Given the description of an element on the screen output the (x, y) to click on. 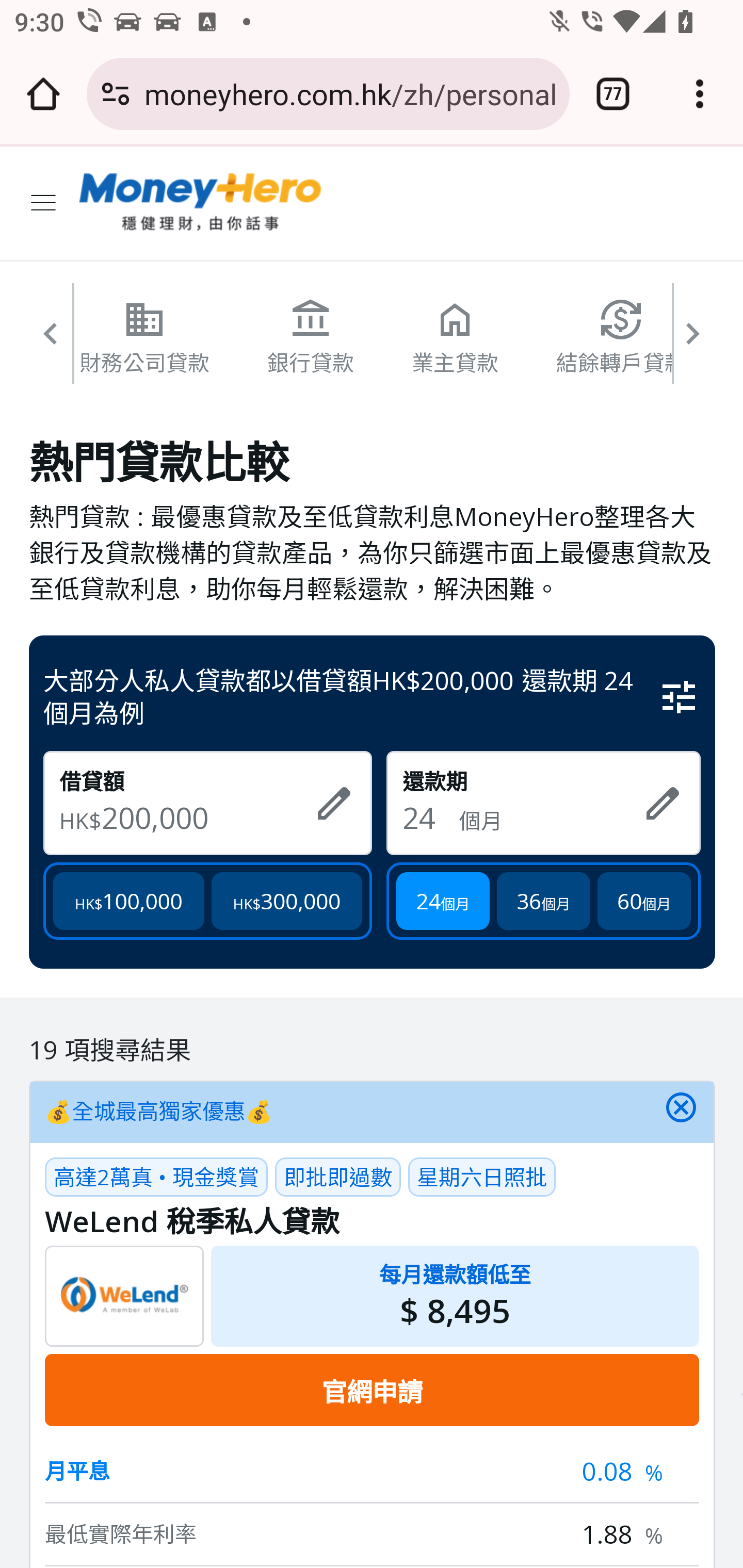
Open the home page (43, 93)
Connection is secure (115, 93)
Switch or close tabs (612, 93)
Customize and control Google Chrome (699, 93)
MH_Logo_ZH_2021-1 (201, 203)
Previous slide (50, 341)
business 財務公司貸款 (145, 336)
account_balance 銀行貸款 (311, 336)
home 業主貸款 (454, 336)
currency_exchange 結餘轉戶貸款 (622, 336)
Next slide (693, 341)
tune (679, 695)
200,000 (200, 816)
24 (430, 816)
cancel (681, 1112)
官網申請 (371, 1389)
